Given the description of an element on the screen output the (x, y) to click on. 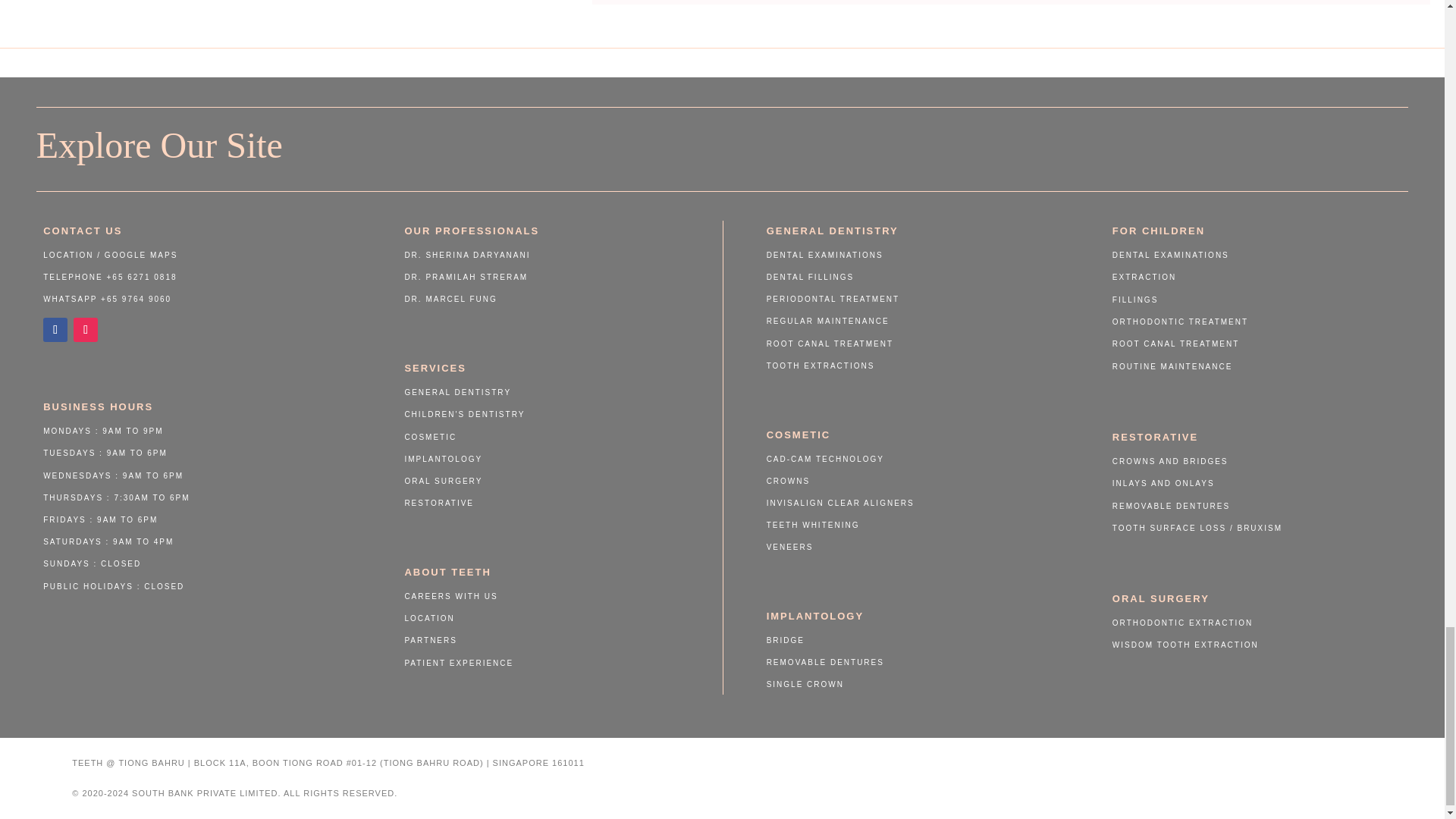
Follow on Instagram (85, 329)
Follow on Facebook (54, 329)
